Given the description of an element on the screen output the (x, y) to click on. 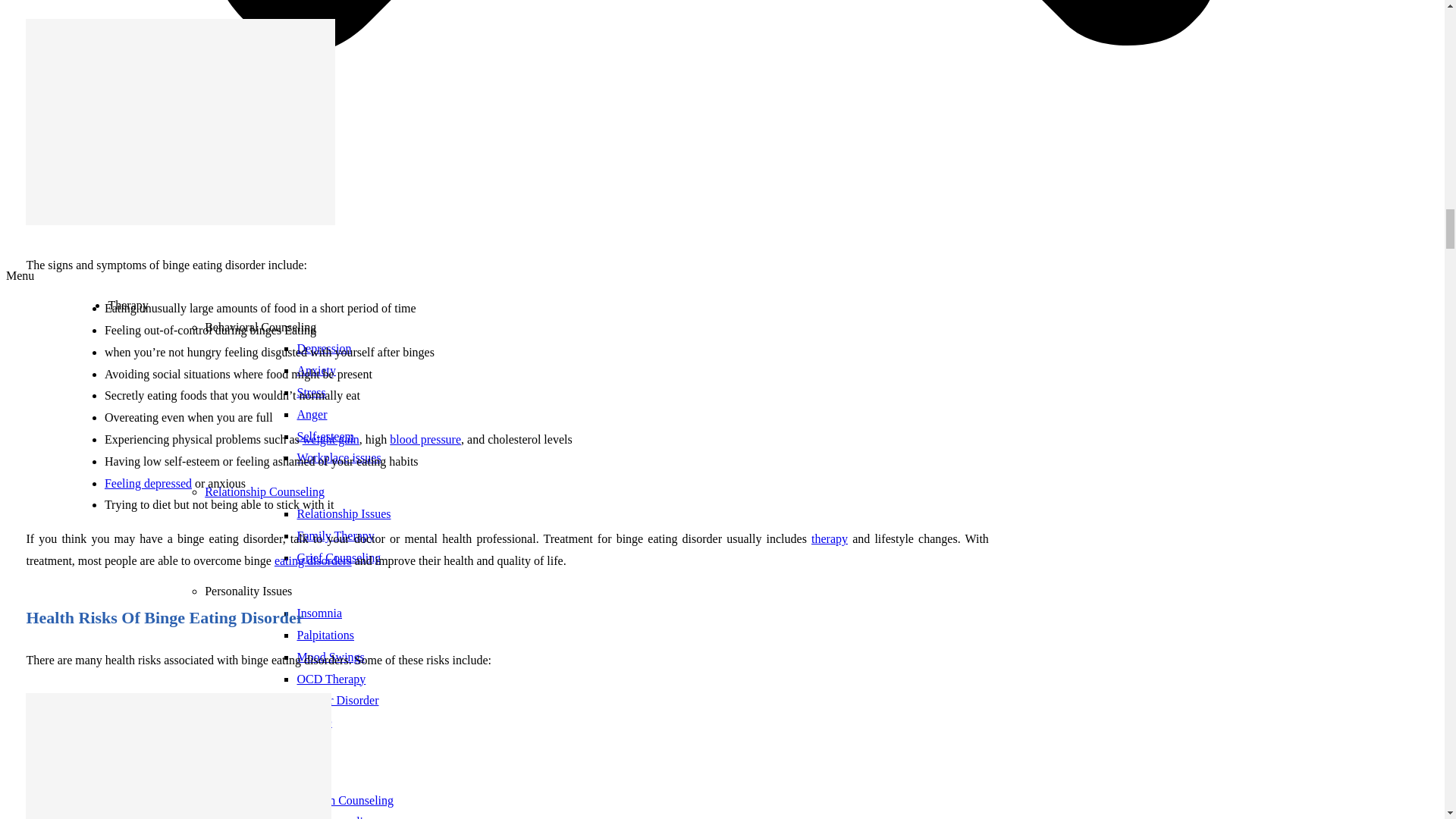
therapy (828, 538)
eating disorders (313, 560)
feeling depressed (148, 482)
weight gain (330, 439)
blood pressure (425, 439)
